Given the description of an element on the screen output the (x, y) to click on. 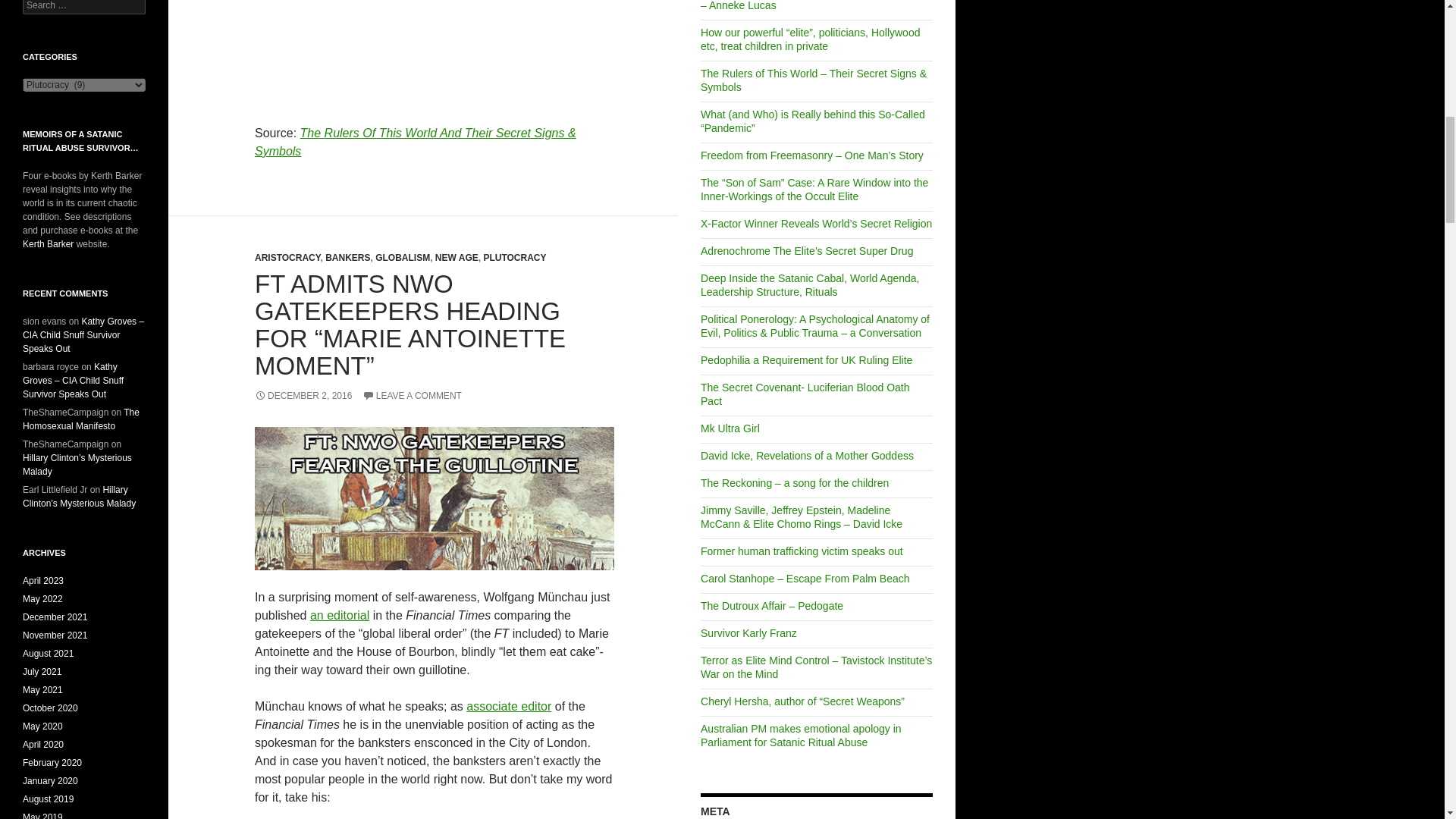
the KerthBarker website (48, 244)
